Given the description of an element on the screen output the (x, y) to click on. 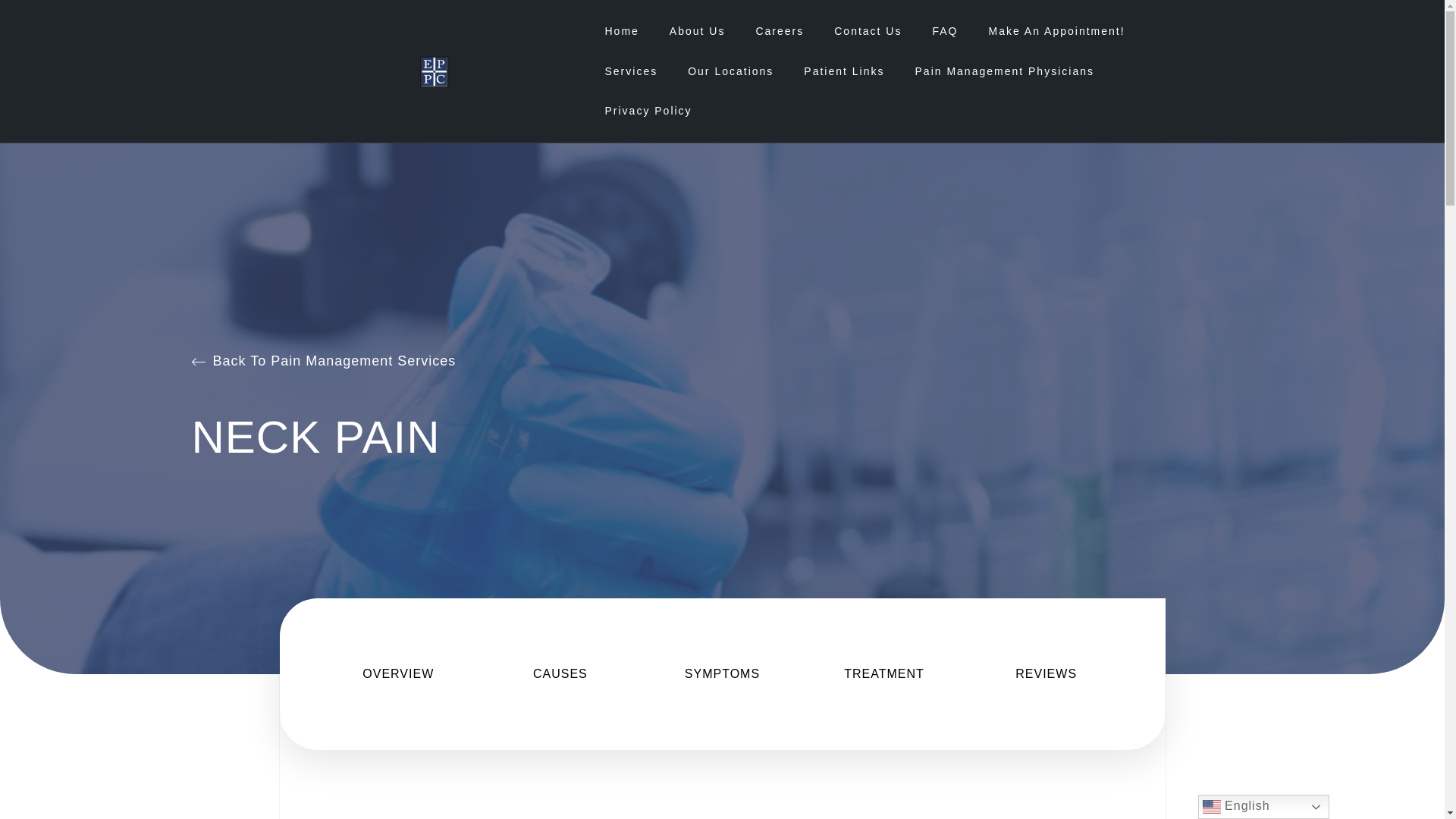
Services (631, 71)
Privacy Policy (647, 110)
arrow-left (197, 361)
FAQ (944, 31)
Our Locations (730, 71)
Contact Us (867, 31)
TREATMENT (884, 673)
CAUSES (560, 673)
About Us (697, 31)
Patient Links (843, 71)
Careers (779, 31)
Pain Management Physicians (1004, 71)
Make An Appointment! (1056, 31)
Home (621, 31)
REVIEWS (1045, 673)
